Given the description of an element on the screen output the (x, y) to click on. 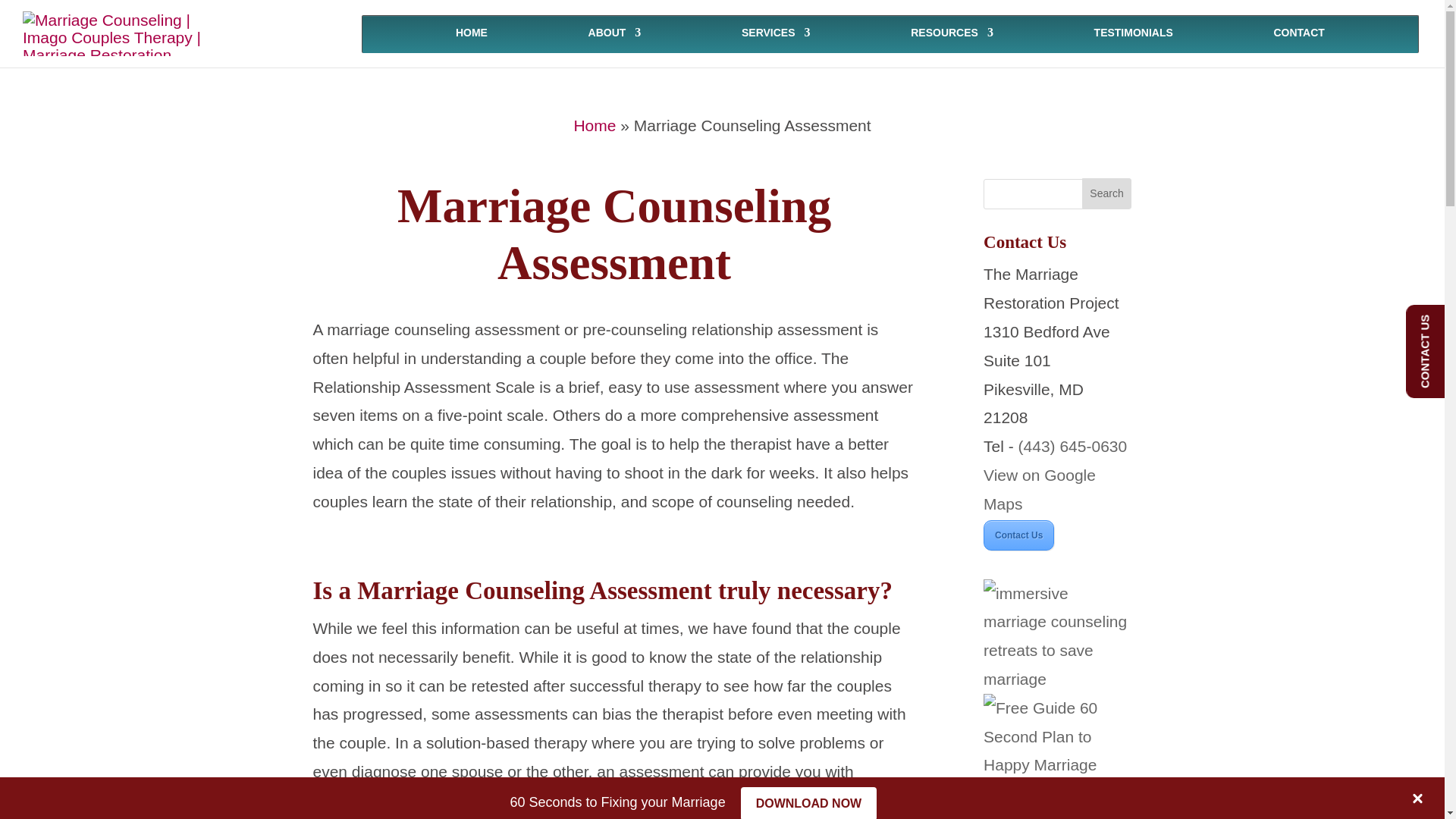
Search (1106, 193)
RESOURCES (951, 34)
HOME (471, 34)
SERVICES (775, 34)
ABOUT (615, 34)
Homepage of The Marriage Restoration Project Website (471, 34)
